Given the description of an element on the screen output the (x, y) to click on. 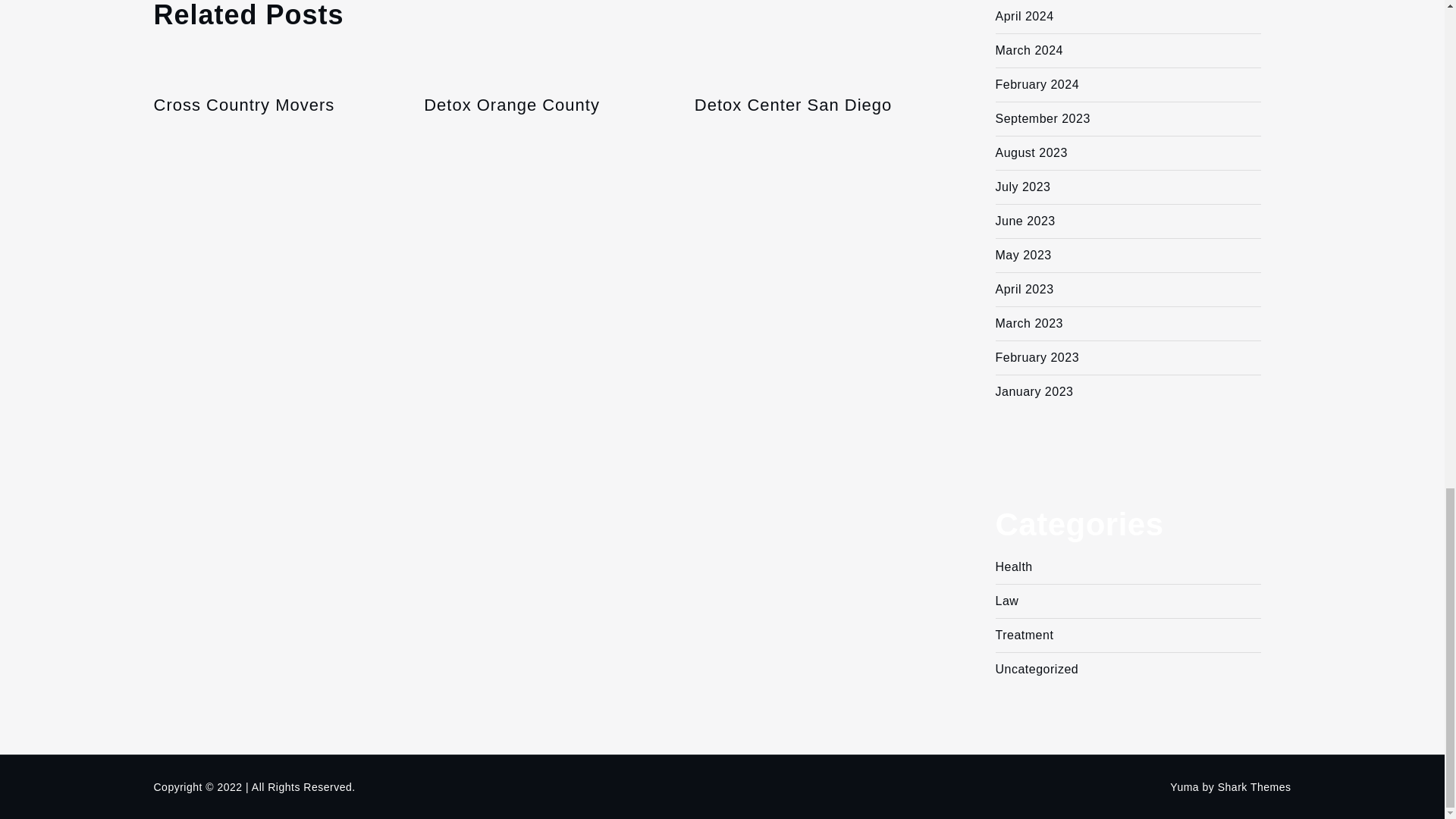
Detox Center San Diego (814, 106)
August 2023 (1030, 152)
May 2023 (1022, 254)
September 2023 (1041, 118)
Detox Orange County (543, 106)
February 2024 (1036, 83)
Cross Country Movers (272, 106)
April 2024 (1023, 15)
July 2023 (1021, 186)
March 2023 (1028, 323)
April 2023 (1023, 288)
June 2023 (1024, 220)
March 2024 (1028, 50)
